Given the description of an element on the screen output the (x, y) to click on. 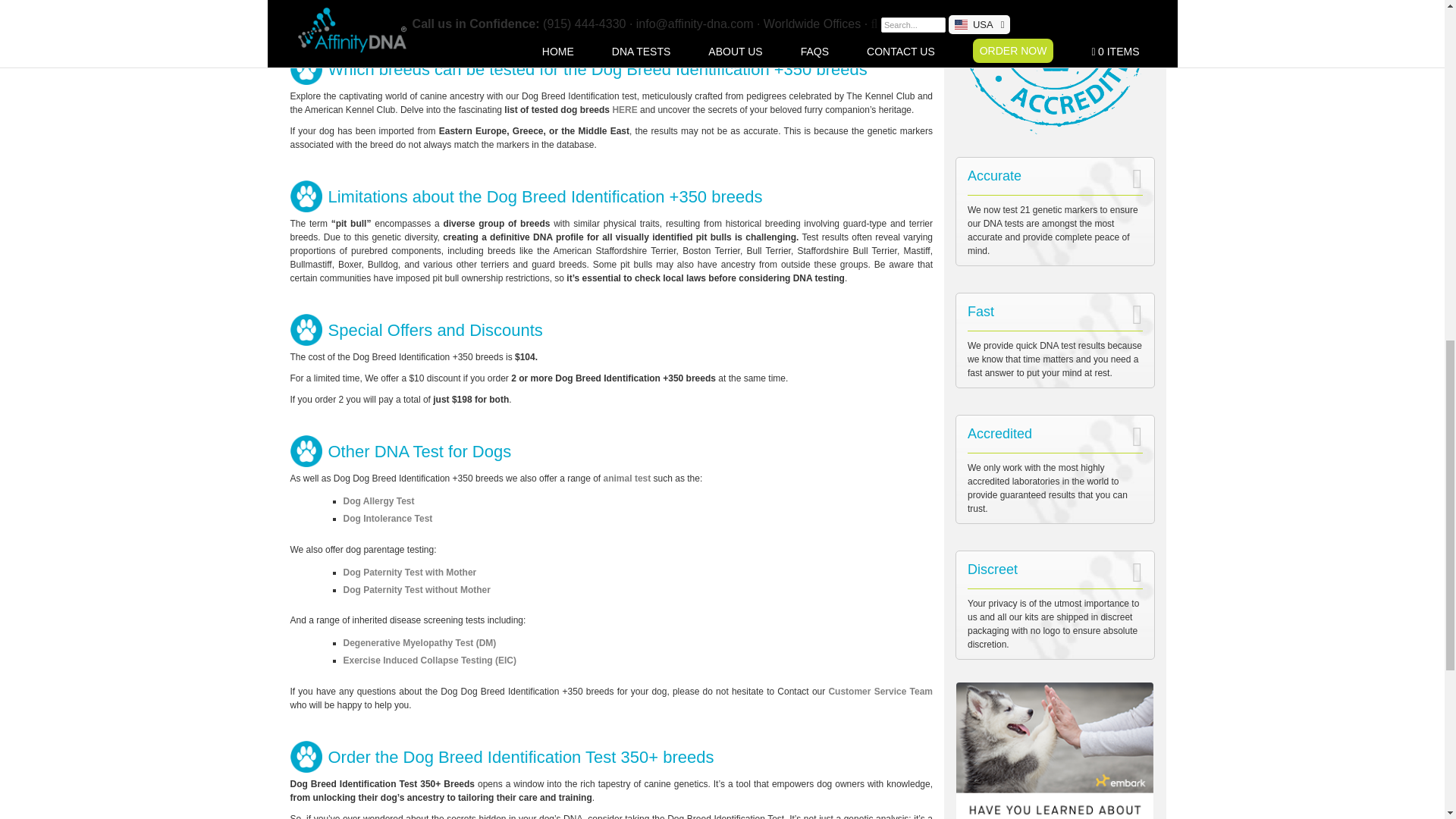
AffinityDNA Animal Icon Cat Intolerance Test (308, 69)
AffinityDNA Animal Icon Cat Intolerance Test (308, 196)
AffinityDNA Animal Icon  (308, 329)
AffinityDNA Animal Icon (308, 450)
AffinityDNA Animal Icon Cat Intolerance Test (308, 757)
